Given the description of an element on the screen output the (x, y) to click on. 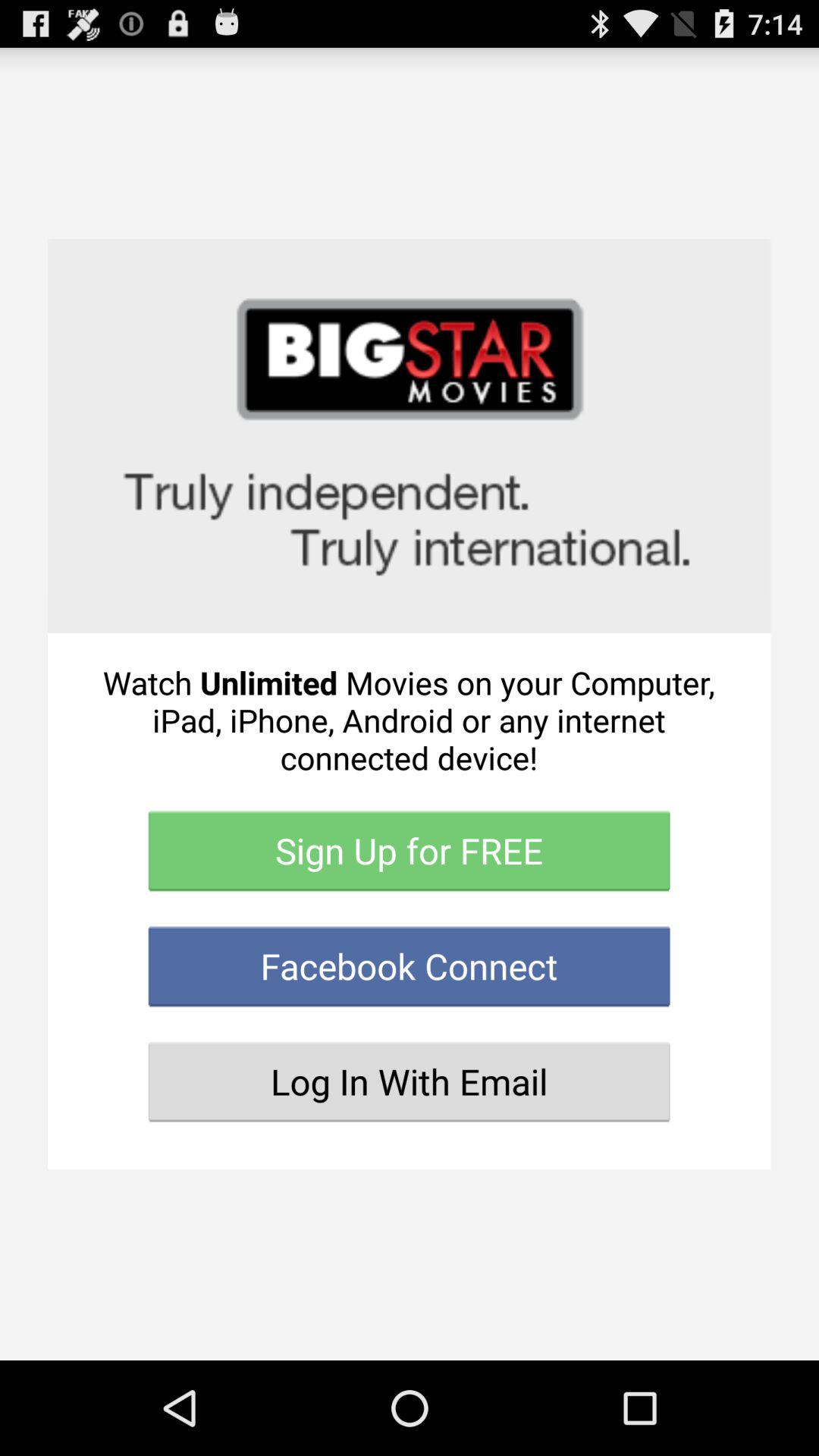
click the icon above log in with button (408, 966)
